Given the description of an element on the screen output the (x, y) to click on. 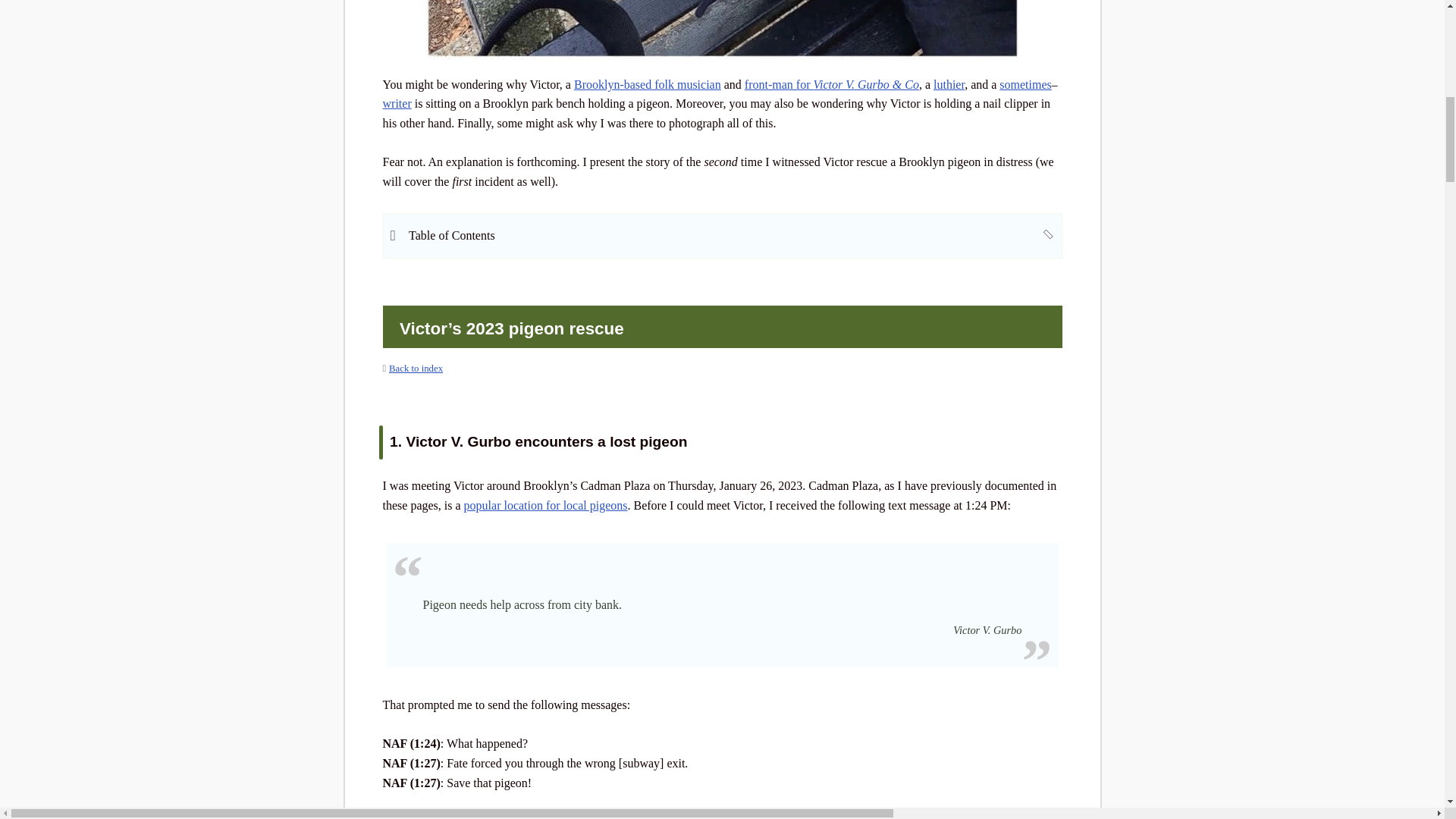
writer (395, 103)
popular location for local pigeons (545, 504)
sometimes (1024, 83)
luthier (948, 83)
Back to index (415, 368)
Brooklyn-based folk musician (646, 83)
